Given the description of an element on the screen output the (x, y) to click on. 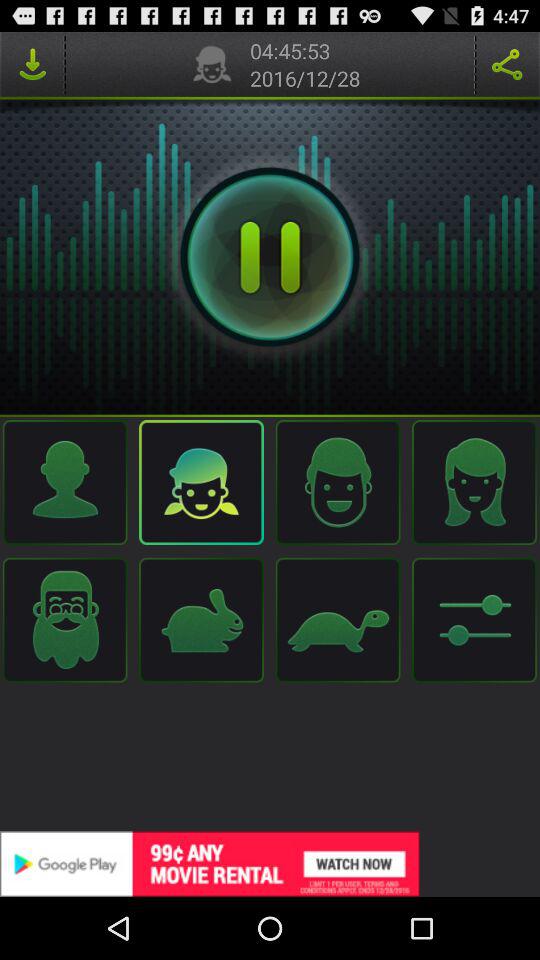
download the file (32, 64)
